Given the description of an element on the screen output the (x, y) to click on. 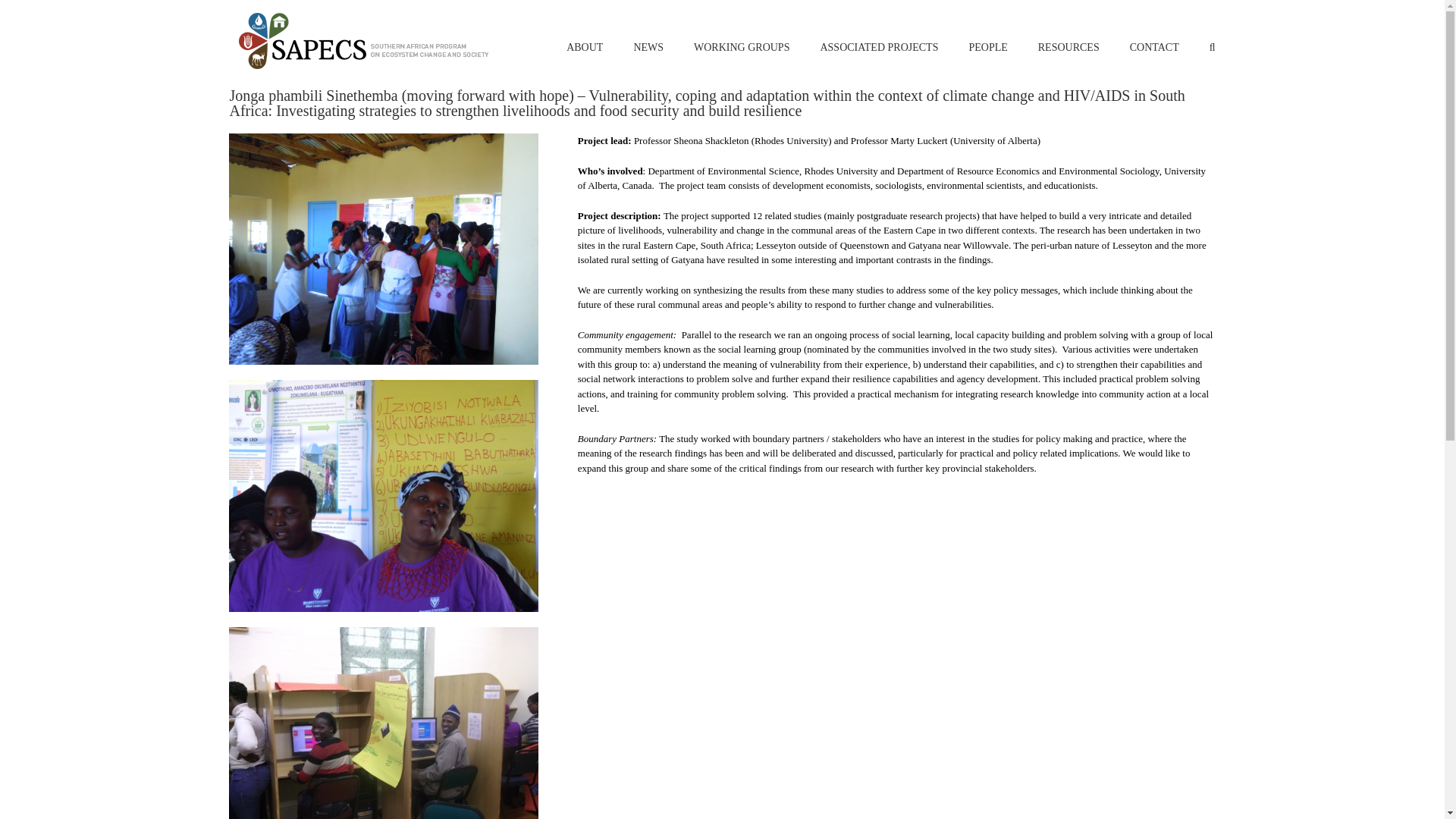
workshop 2 (382, 248)
WORKING GROUPS (741, 40)
ASSOCIATED PROJECTS (878, 40)
b (382, 723)
a (382, 495)
